Given the description of an element on the screen output the (x, y) to click on. 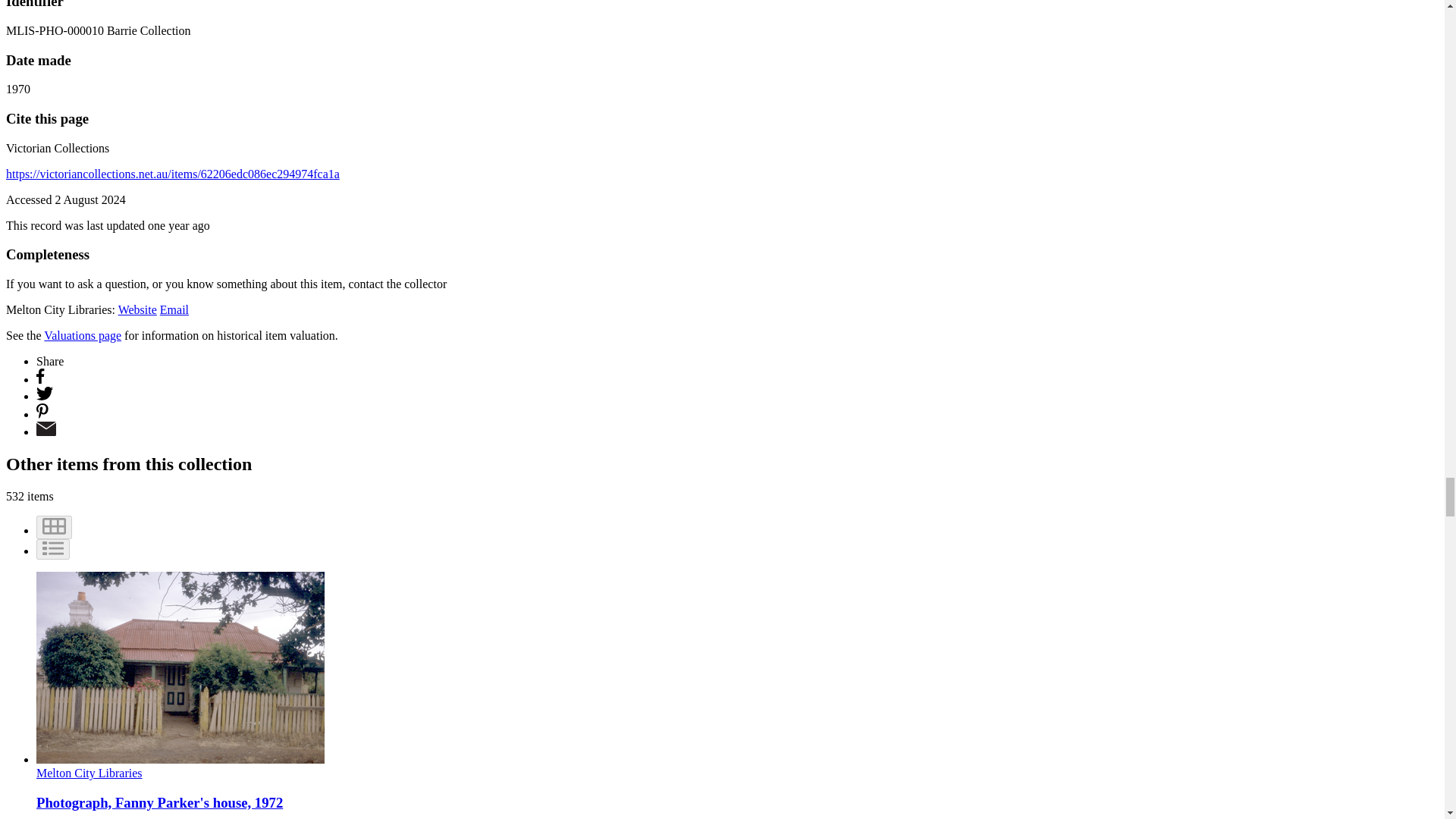
Valuations page (81, 335)
Website (137, 309)
Email (174, 309)
